Given the description of an element on the screen output the (x, y) to click on. 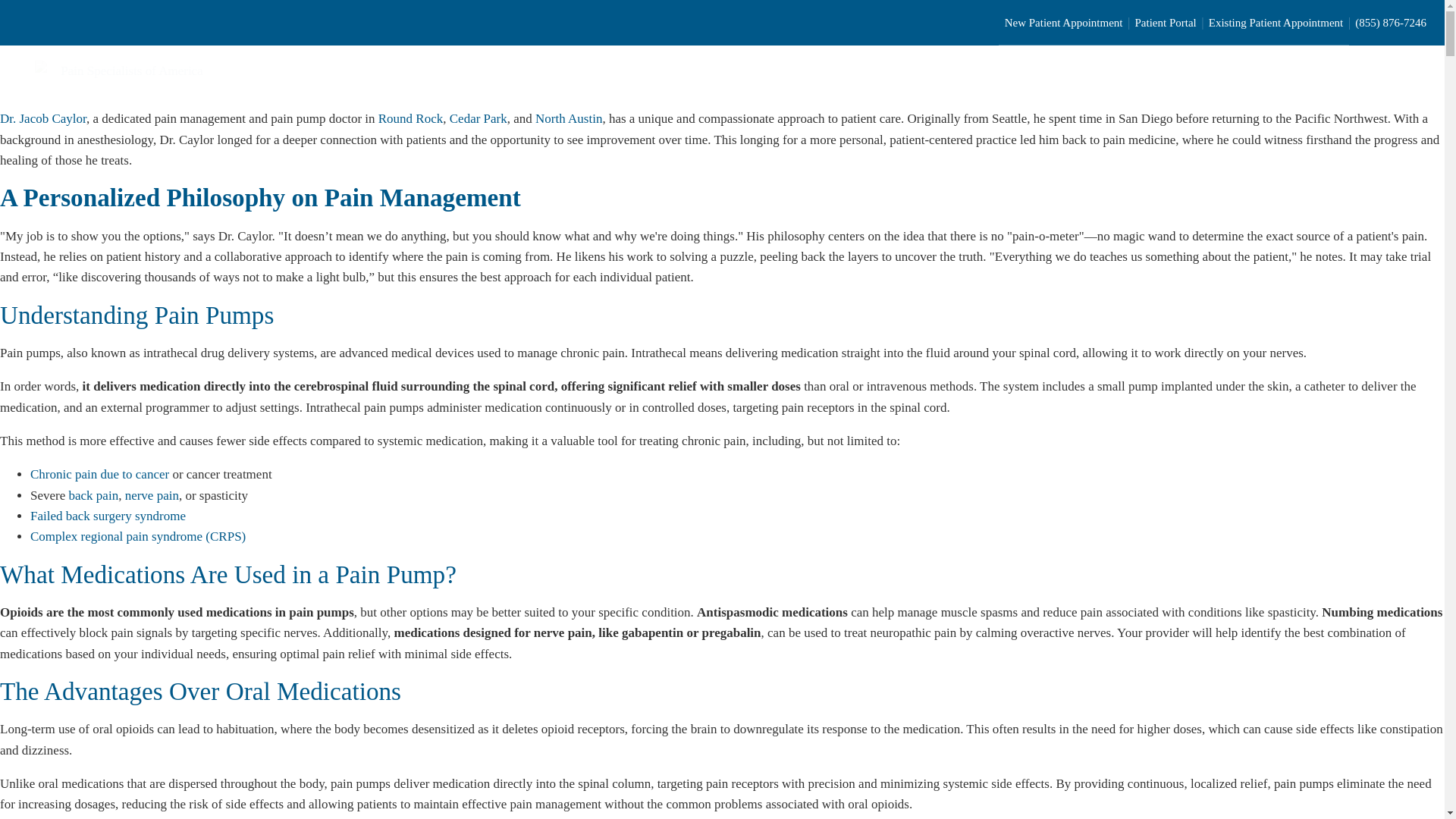
Failed back surgery syndrome (108, 515)
Cedar Park (477, 118)
New Patient Appointment (1063, 22)
back pain (93, 495)
North Austin (568, 118)
Round Rock (410, 118)
nerve pain (152, 495)
Existing Patient Appointment (1275, 22)
Chronic pain due to cancer (99, 473)
Dr. Jacob Caylor (42, 118)
